Given the description of an element on the screen output the (x, y) to click on. 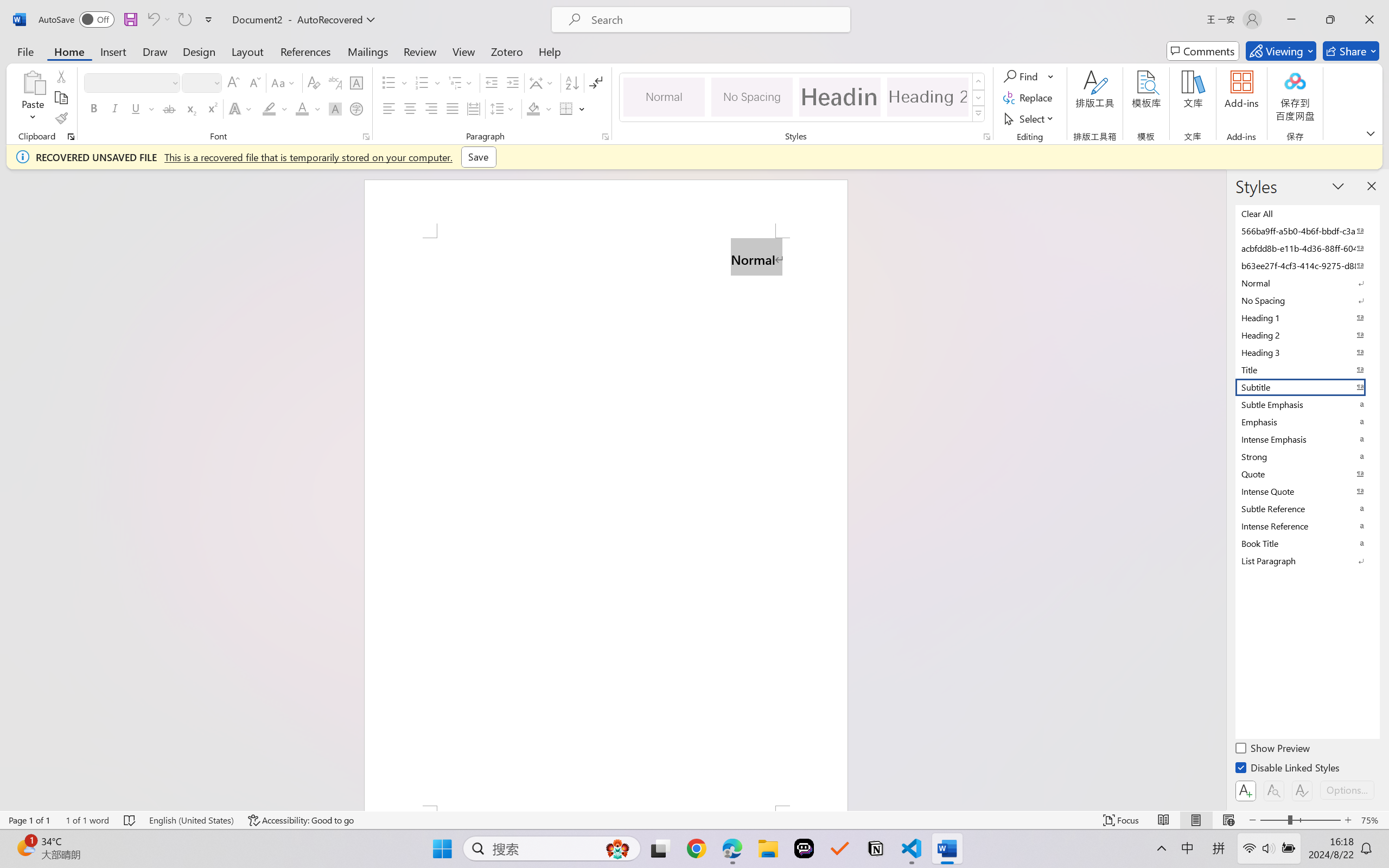
Enclose Characters... (356, 108)
b63ee27f-4cf3-414c-9275-d88e3f90795e (1306, 265)
Task Pane Options (1338, 185)
Options... (1346, 789)
Copy (60, 97)
Center (409, 108)
Show Preview (1273, 749)
Replace... (1029, 97)
Strikethrough (169, 108)
Clear Formatting (313, 82)
Superscript (210, 108)
